Given the description of an element on the screen output the (x, y) to click on. 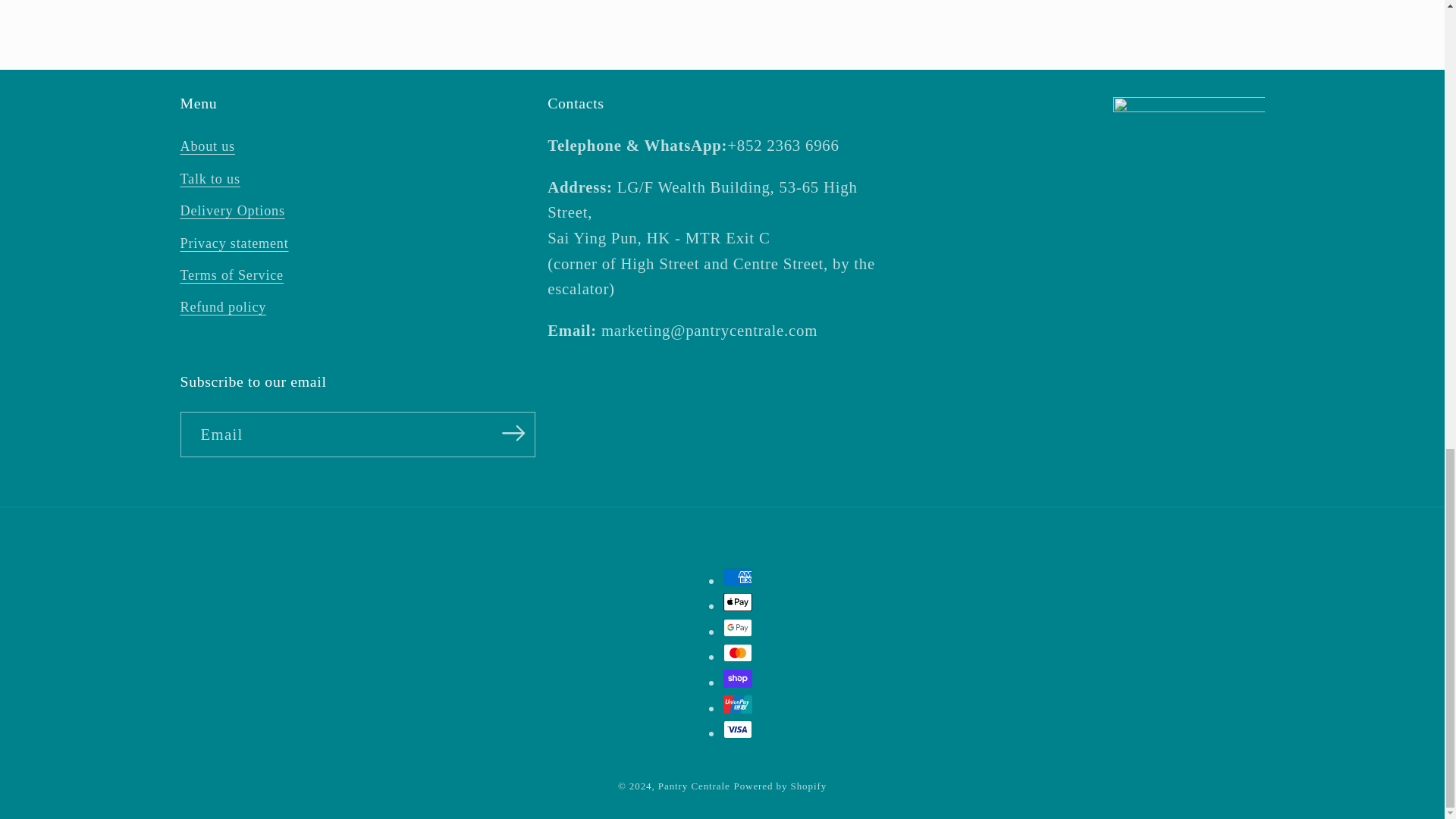
Apple Pay (737, 601)
Mastercard (737, 652)
Google Pay (737, 628)
Union Pay (737, 704)
American Express (737, 577)
Shop Pay (737, 678)
